Given the description of an element on the screen output the (x, y) to click on. 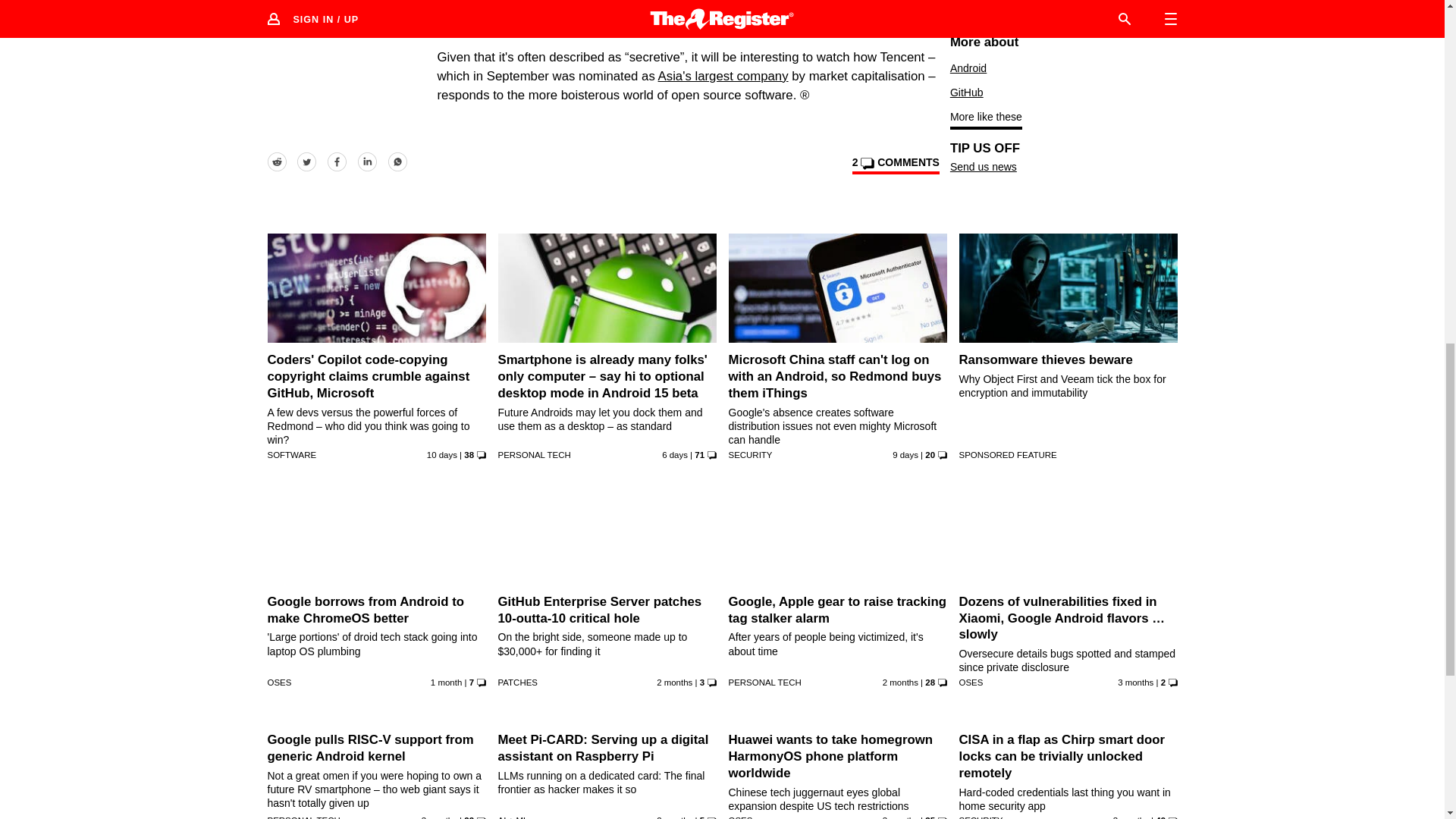
12 Jul 2024 11:17 (674, 454)
14 May 2024 13:30 (900, 682)
12 Jun 2024 23:59 (445, 682)
15 May 2024 14:30 (674, 817)
2 May 2024 20:0 (1135, 682)
9 Jul 2024 6:32 (905, 454)
22 May 2024 7:31 (674, 682)
1 May 2024 17:36 (439, 817)
View comments on this article (895, 165)
8 Jul 2024 23:24 (441, 454)
